Given the description of an element on the screen output the (x, y) to click on. 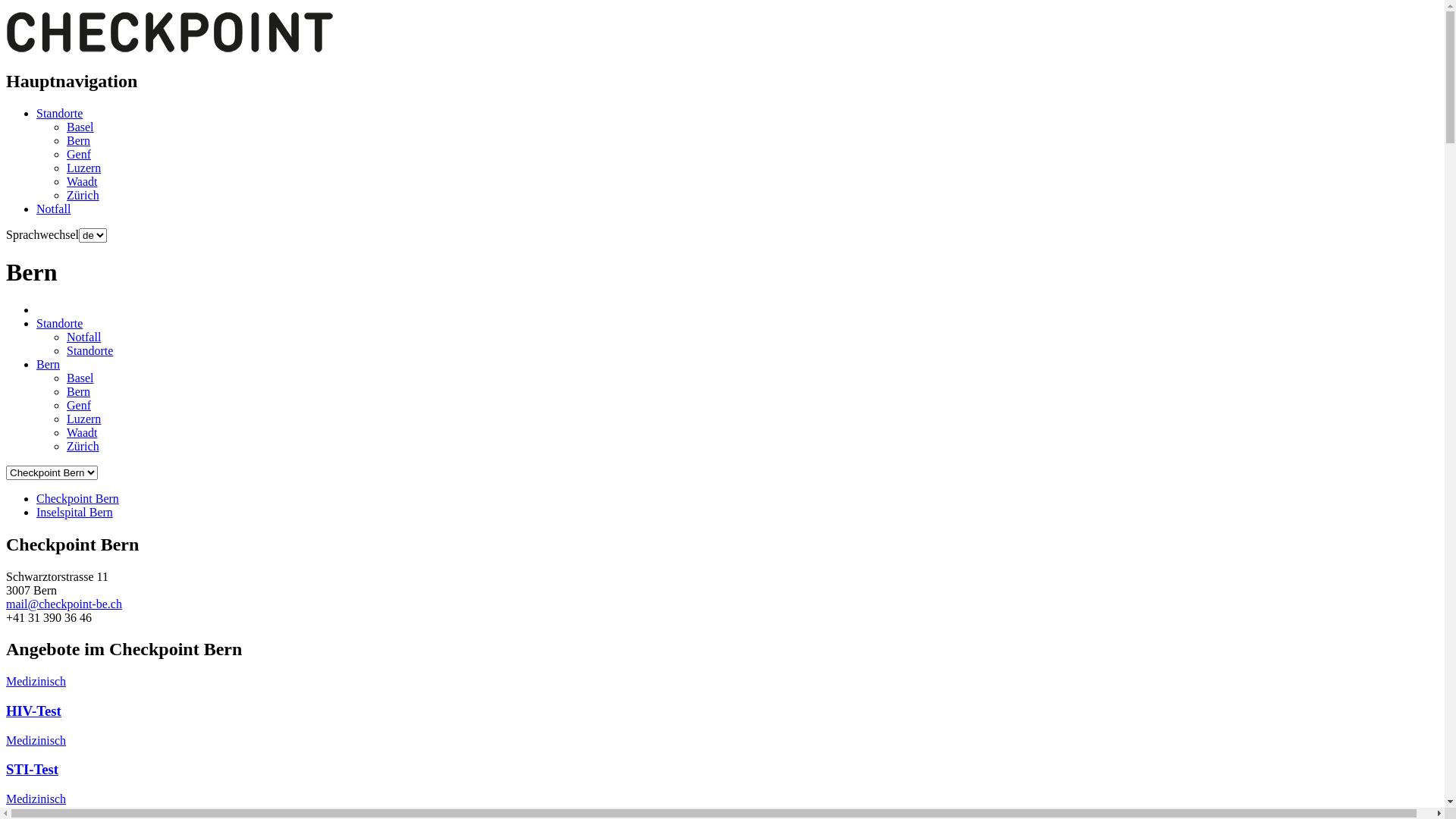
Bern Element type: text (78, 391)
Medizinisch
STI-Test Element type: text (722, 756)
Basel Element type: text (80, 126)
Medizinisch
HIV-Test Element type: text (722, 696)
Waadt Element type: text (81, 432)
Standorte Element type: text (59, 112)
Inselspital Bern Element type: text (74, 511)
Genf Element type: text (78, 404)
Notfall Element type: text (53, 208)
Luzern Element type: text (83, 167)
Standorte Element type: text (89, 350)
Luzern Element type: text (83, 418)
mail@checkpoint-be.ch Element type: text (64, 603)
Waadt Element type: text (81, 181)
Notfall Element type: text (83, 336)
Standorte Element type: text (59, 322)
Basel Element type: text (80, 377)
Genf Element type: text (78, 153)
Bern Element type: text (47, 363)
Bern Element type: text (78, 140)
Checkpoint Bern Element type: text (77, 498)
